Given the description of an element on the screen output the (x, y) to click on. 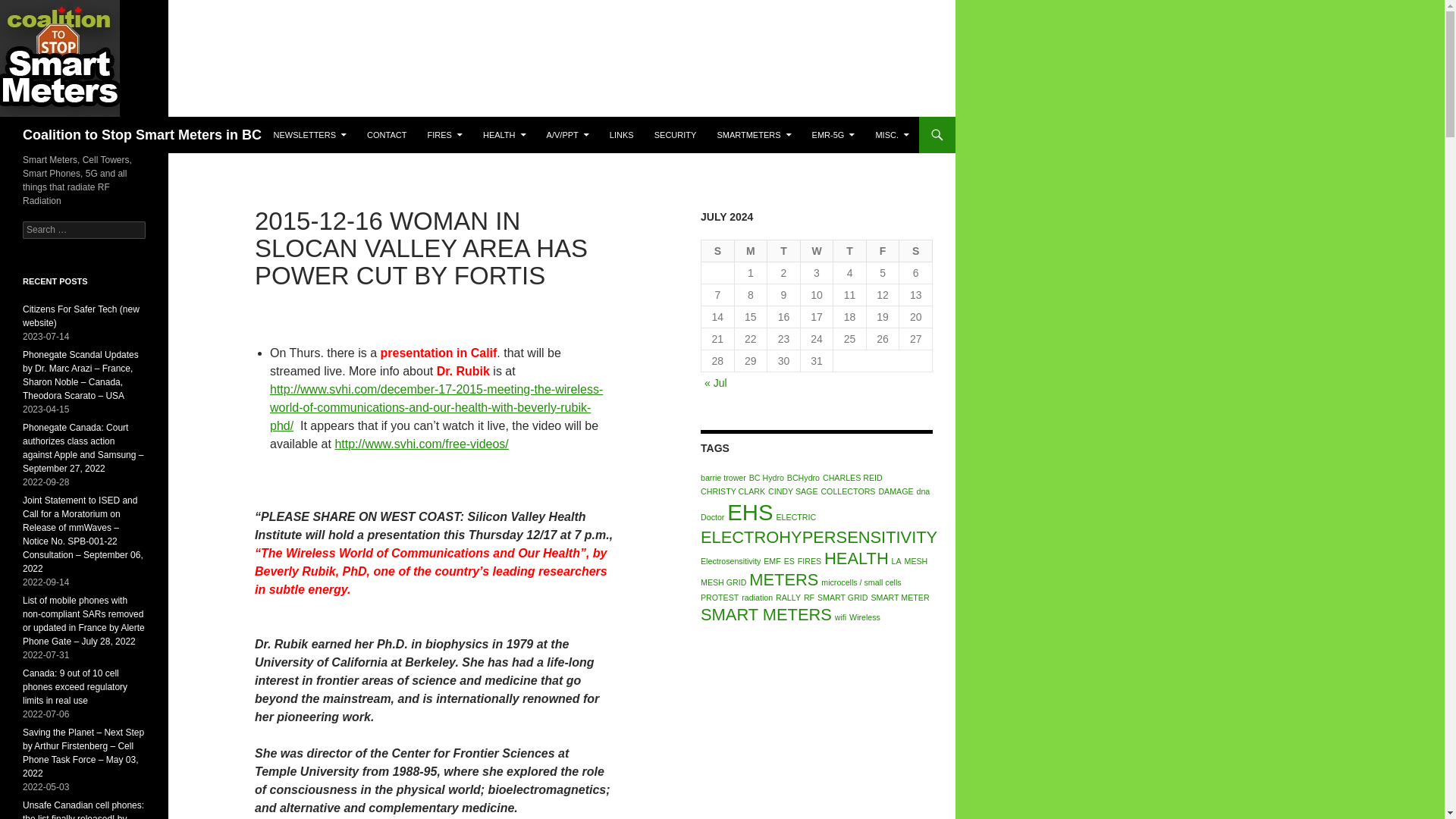
NEWSLETTERS (309, 135)
Saturday (916, 251)
Monday (751, 251)
Thursday (849, 251)
Tuesday (783, 251)
Wednesday (817, 251)
Coalition to Stop Smart Meters in BC (142, 135)
Sunday (718, 251)
Friday (882, 251)
